Given the description of an element on the screen output the (x, y) to click on. 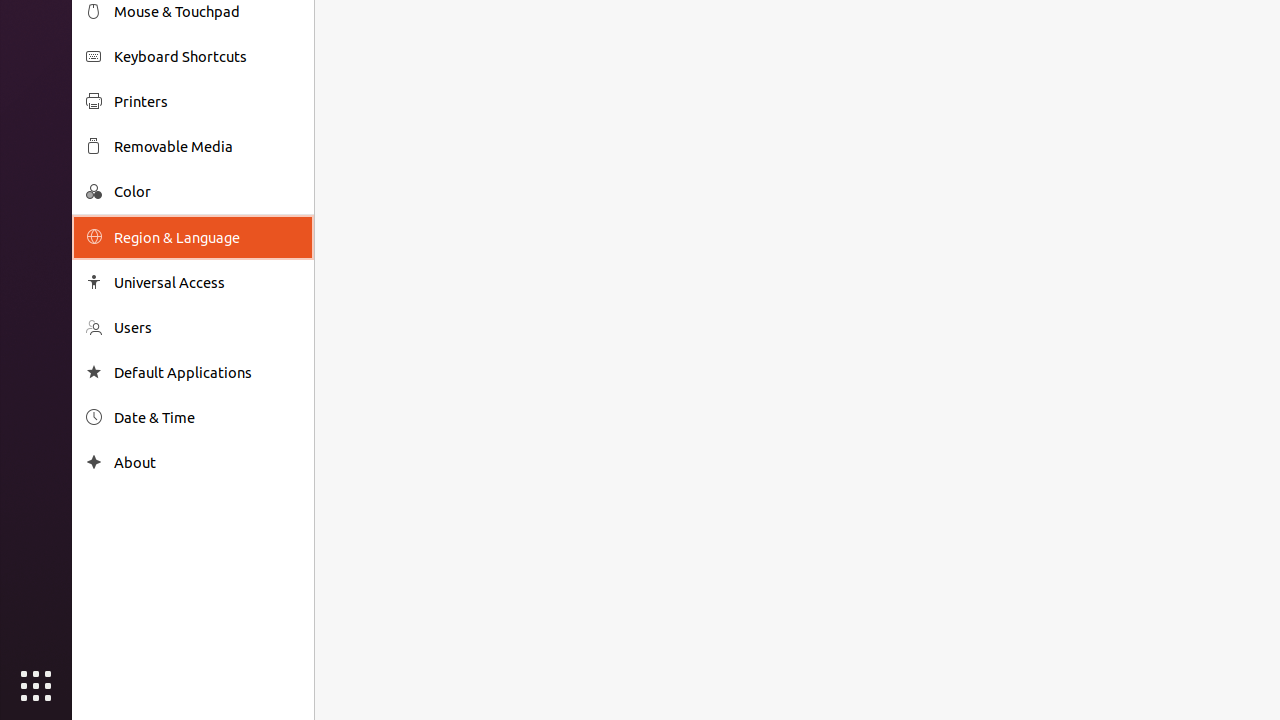
Mouse & Touchpad Element type: label (207, 11)
Color Element type: label (207, 191)
Users Element type: label (207, 327)
About Element type: label (207, 462)
Universal Access Element type: label (207, 282)
